Given the description of an element on the screen output the (x, y) to click on. 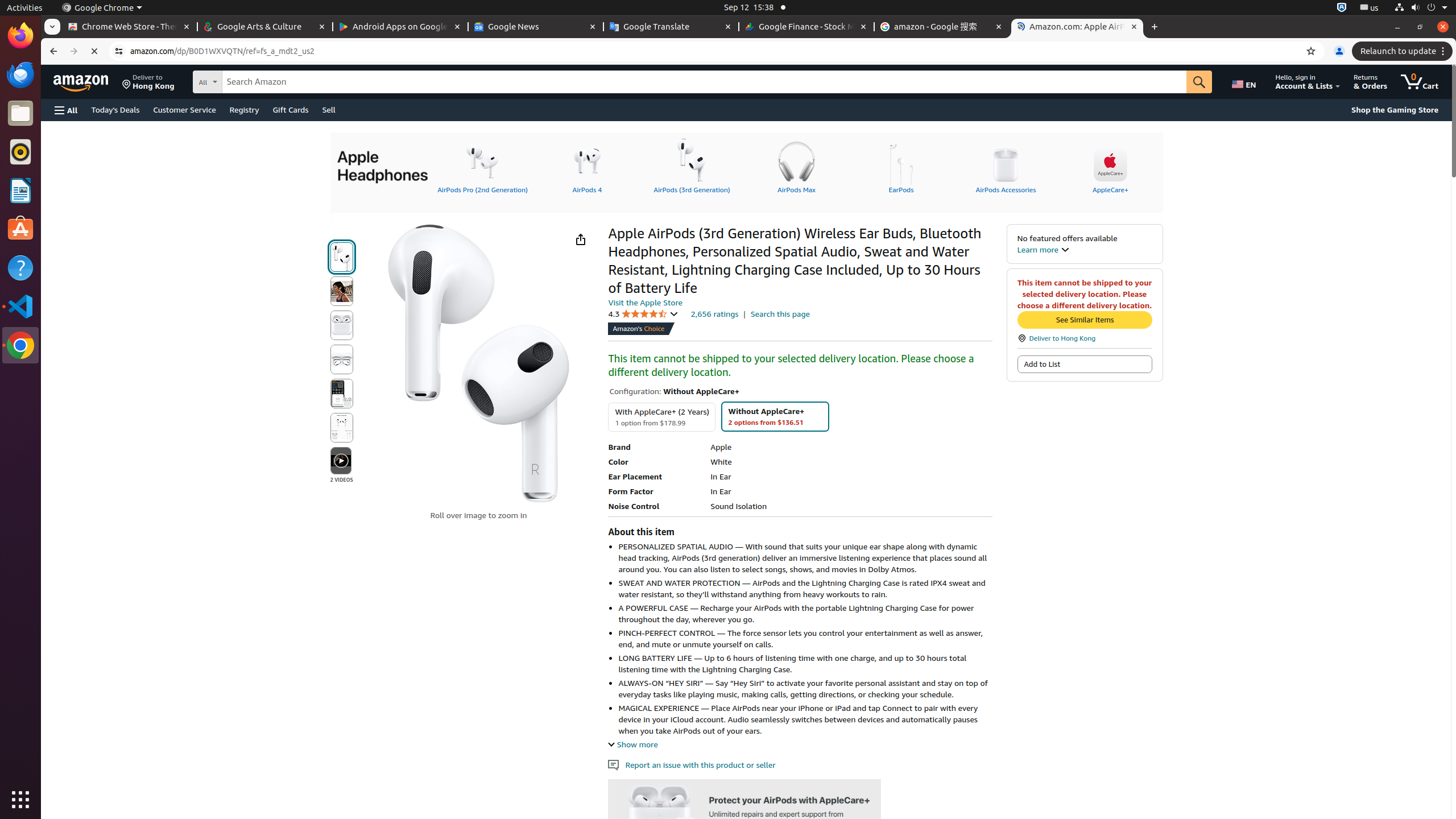
New Tab Element type: push-button (1154, 26)
Firefox Web Browser Element type: push-button (20, 35)
Help Element type: push-button (20, 267)
Without AppleCare+ 2 options from $136.51 Element type: push-button (774, 416)
Visual Studio Code Element type: push-button (20, 306)
